Given the description of an element on the screen output the (x, y) to click on. 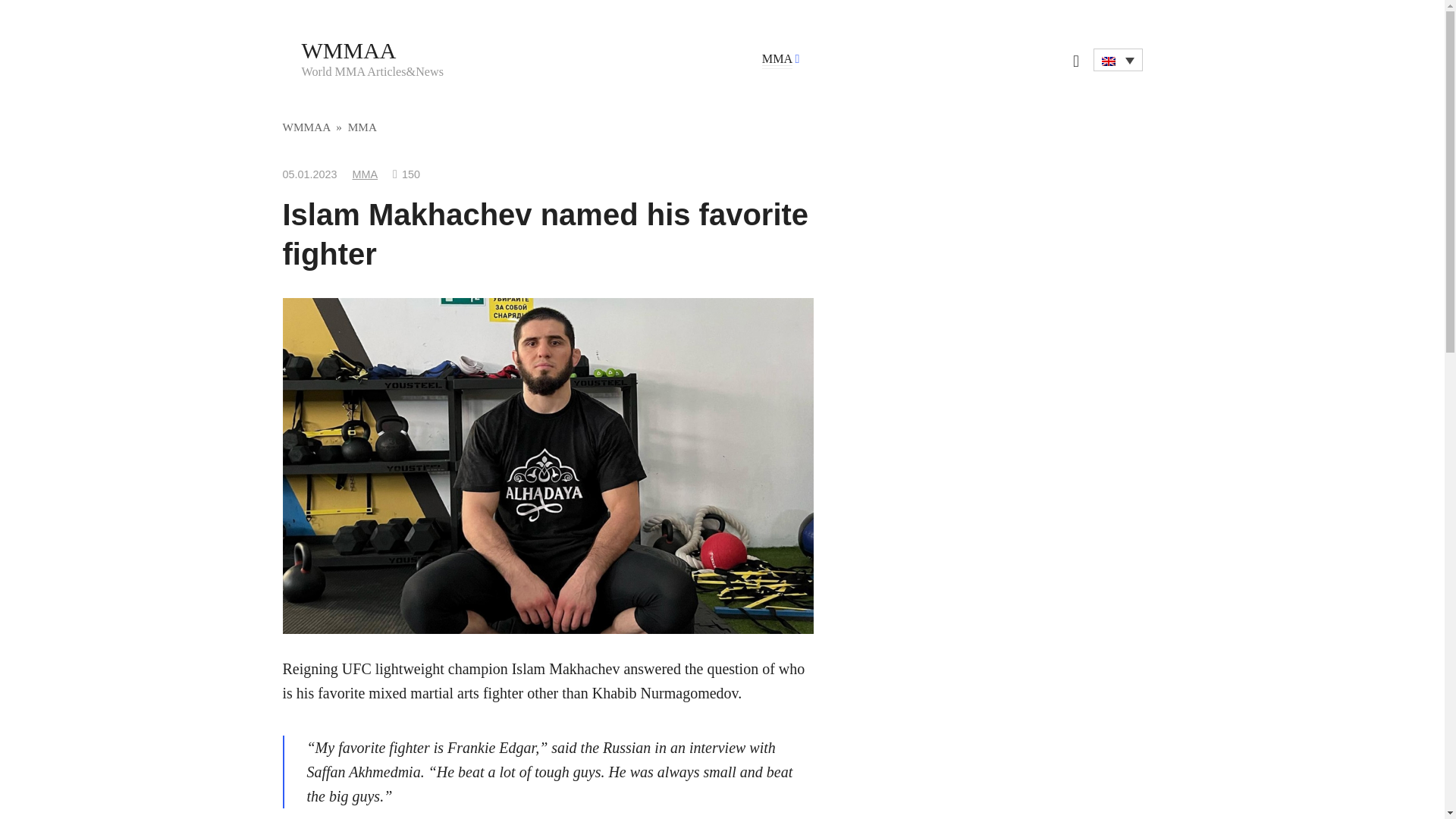
WMMAA (348, 50)
MMA (362, 126)
MMA (776, 59)
MMA (365, 174)
WMMAA (306, 126)
